Given the description of an element on the screen output the (x, y) to click on. 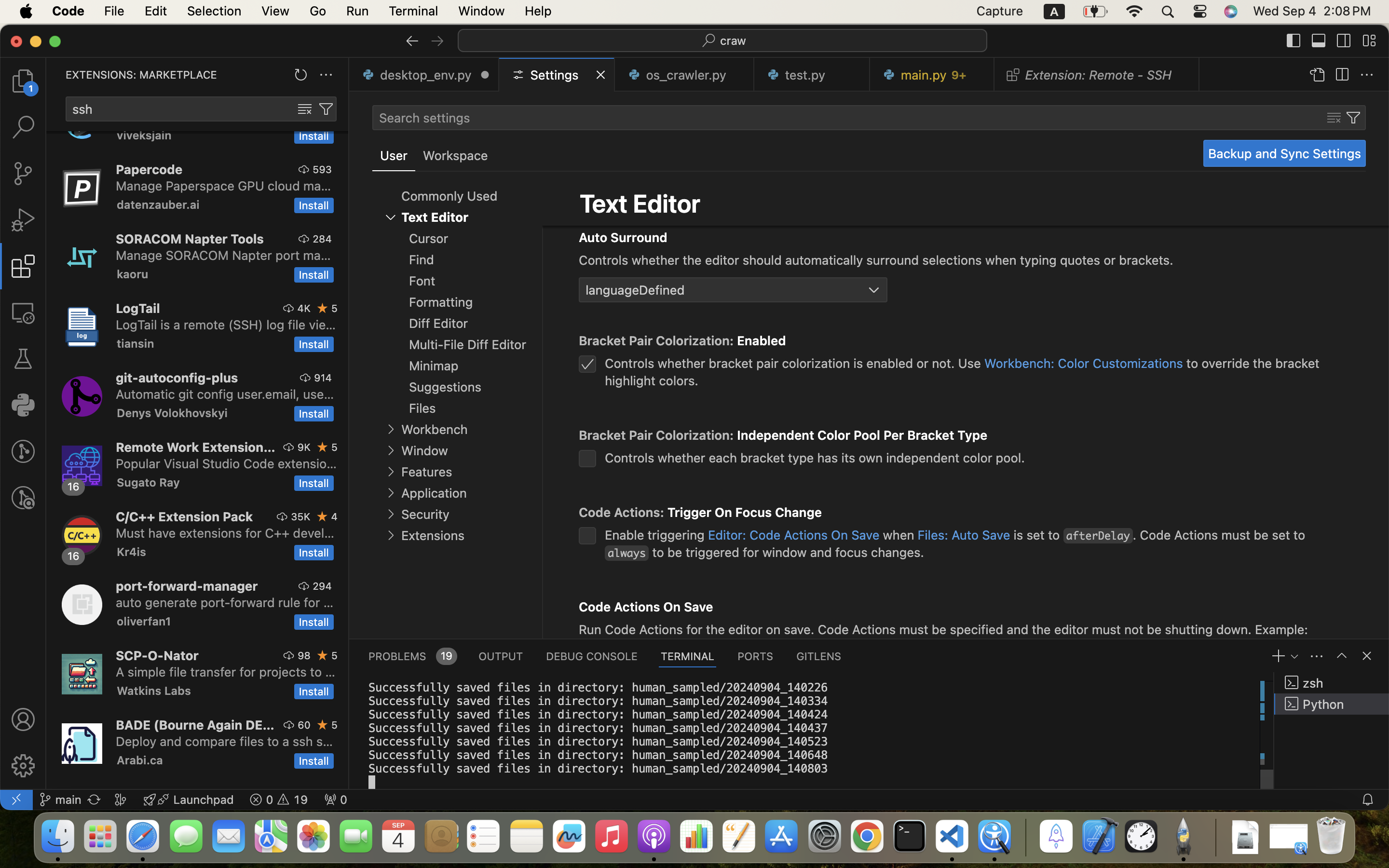
Enabled Element type: AXStaticText (761, 340)
when Element type: AXStaticText (898, 534)
EXTENSIONS: MARKETPLACE Element type: AXStaticText (141, 74)
Sugato Ray Element type: AXStaticText (148, 481)
auto generate port-forward rule for your vscode ssh connection. Element type: AXStaticText (224, 602)
